Given the description of an element on the screen output the (x, y) to click on. 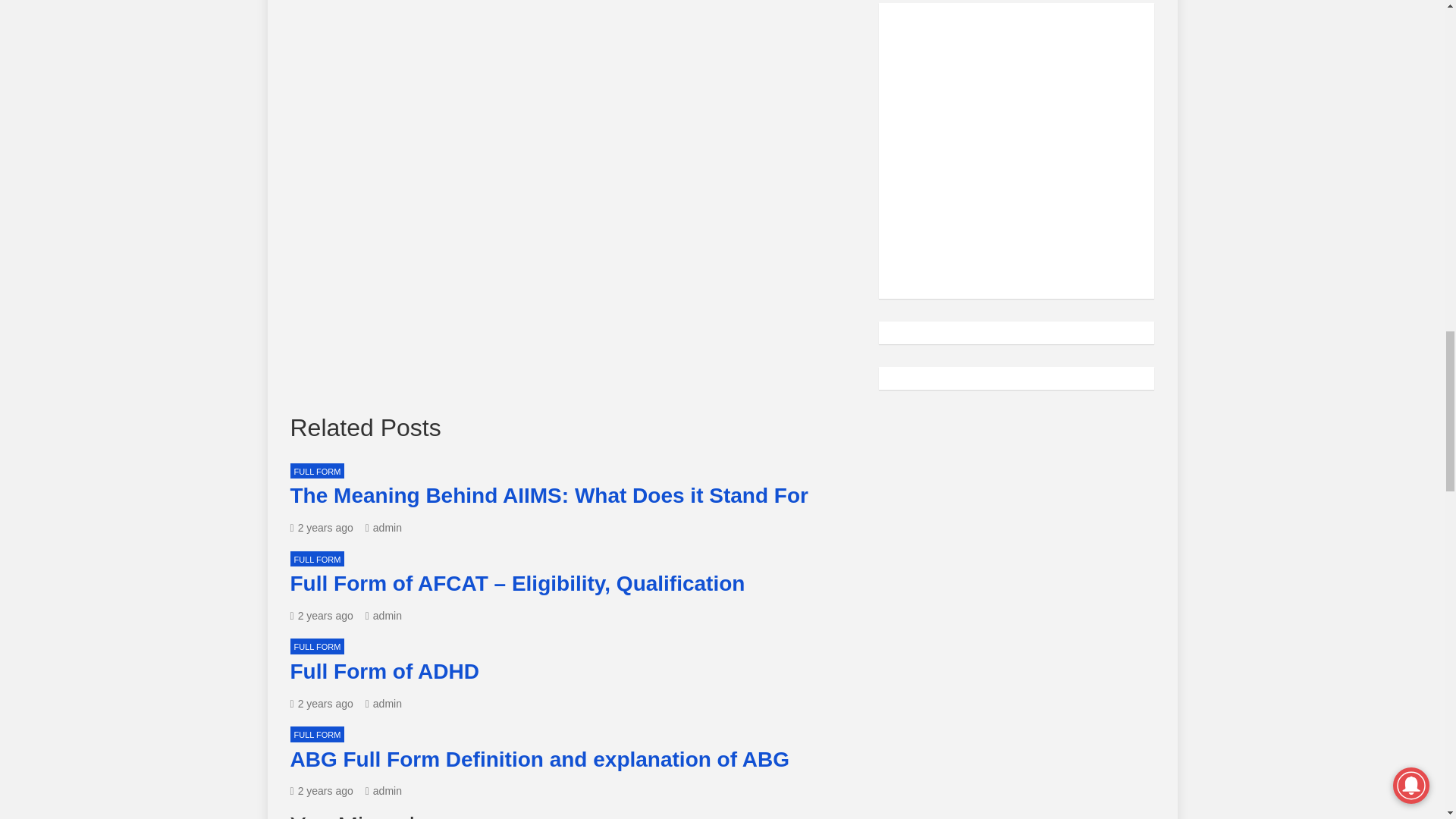
ABG Full Form Definition and explanation of ABG (320, 790)
Full Form of ADHD (320, 703)
The Meaning Behind AIIMS: What Does it Stand For (320, 527)
